Given the description of an element on the screen output the (x, y) to click on. 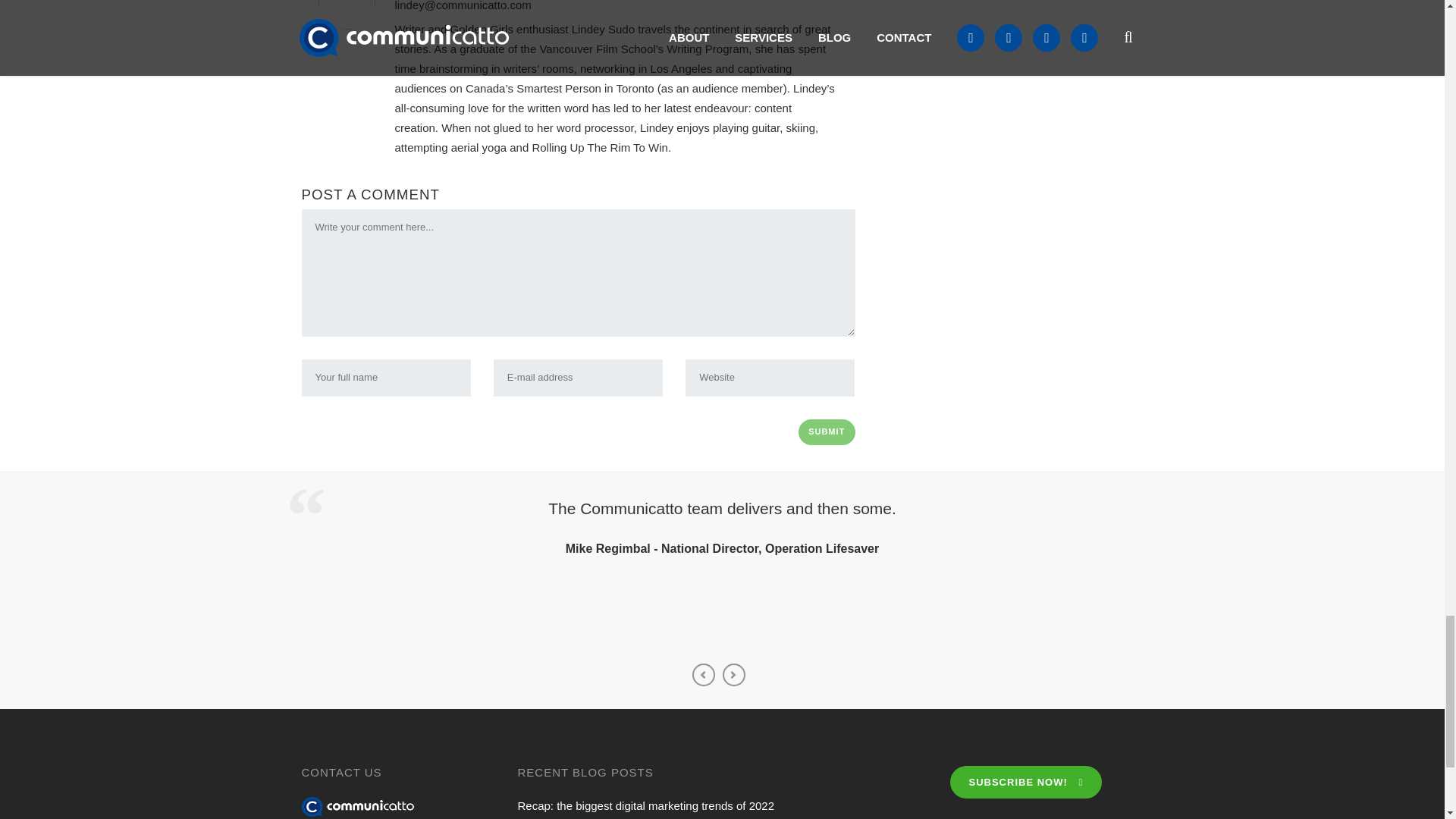
Submit (826, 432)
